Given the description of an element on the screen output the (x, y) to click on. 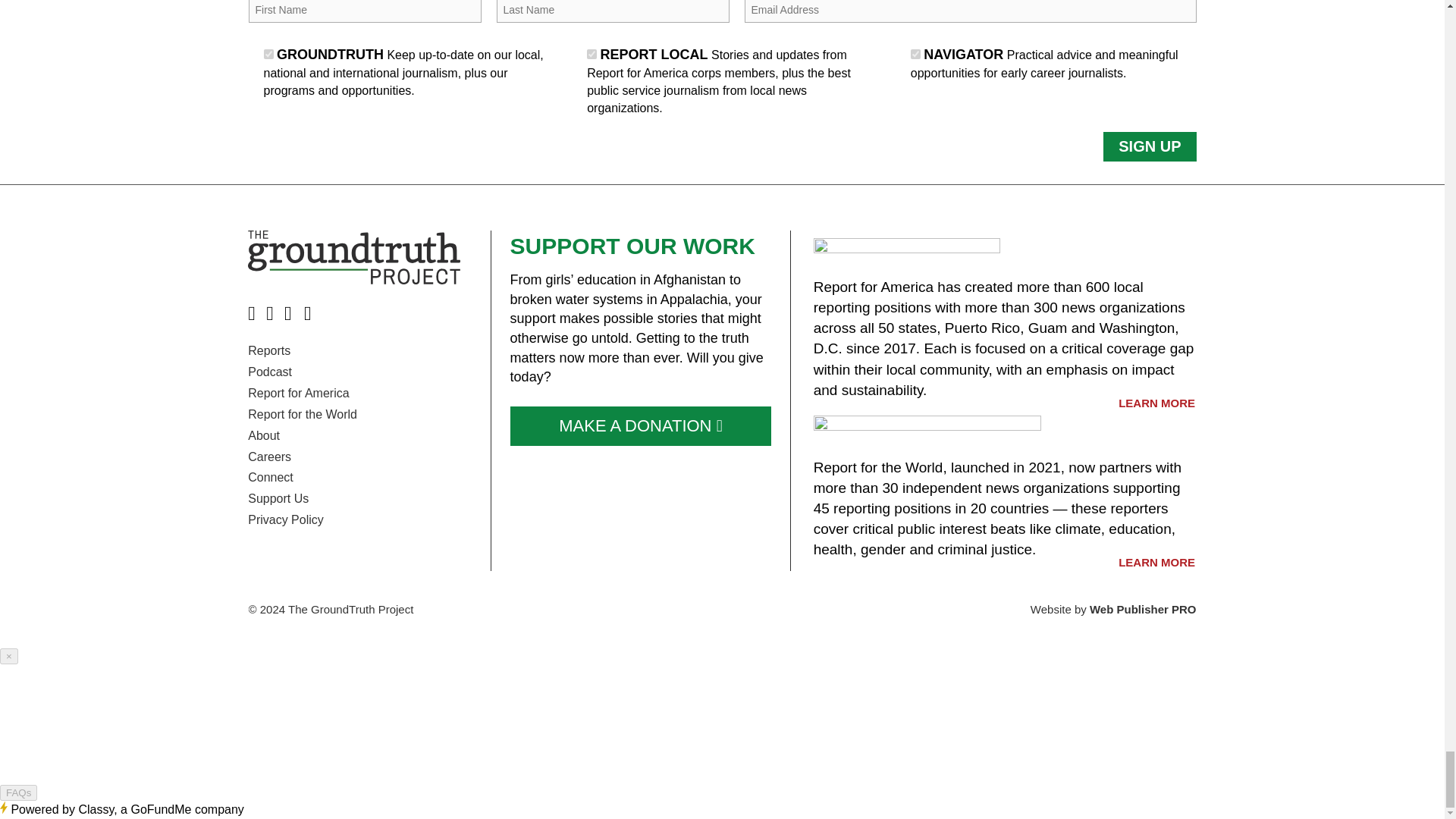
154e6ed2ca (915, 53)
SIGN UP (1149, 146)
9afb6f4318 (268, 53)
0acc19ac1d (591, 53)
